Given the description of an element on the screen output the (x, y) to click on. 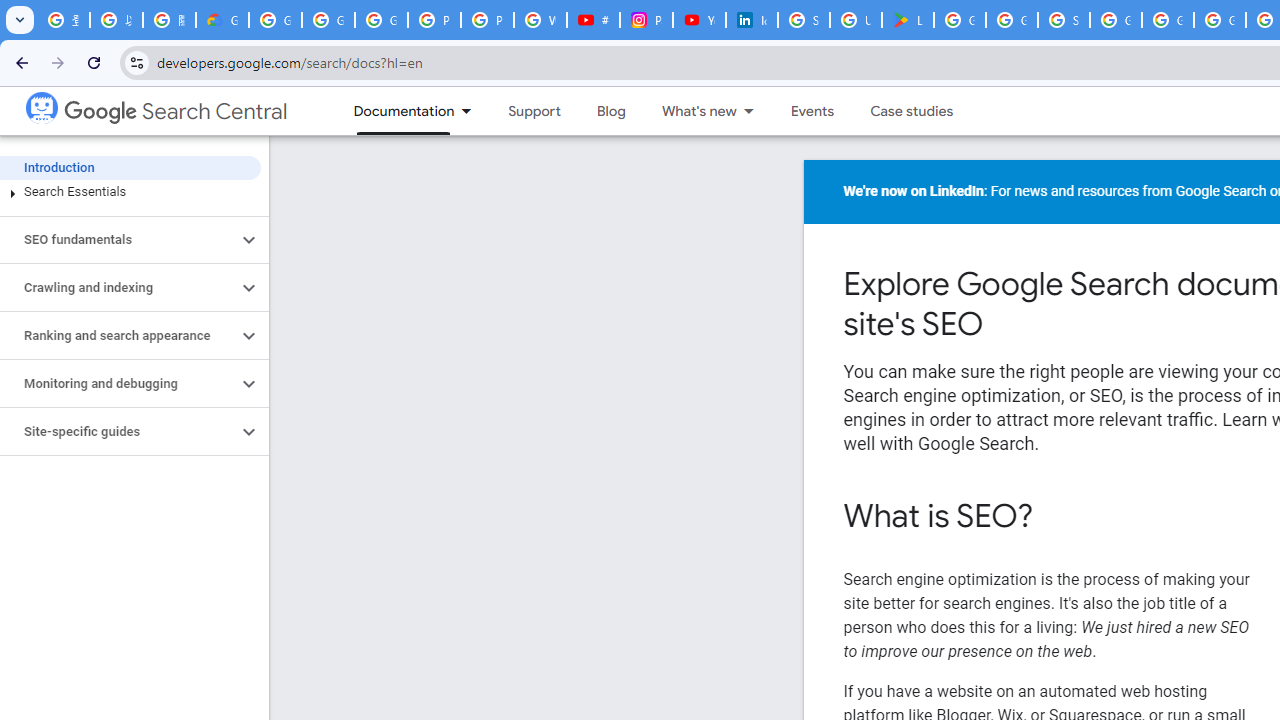
#nbabasketballhighlights - YouTube (593, 20)
Google Workspace - Specific Terms (1011, 20)
Case studies (911, 111)
Dropdown menu for What's new (754, 111)
Dropdown menu for Documentation (472, 111)
SEO fundamentals (118, 239)
Site-specific guides (118, 431)
Last Shelter: Survival - Apps on Google Play (907, 20)
Documentation, selected (394, 111)
